Given the description of an element on the screen output the (x, y) to click on. 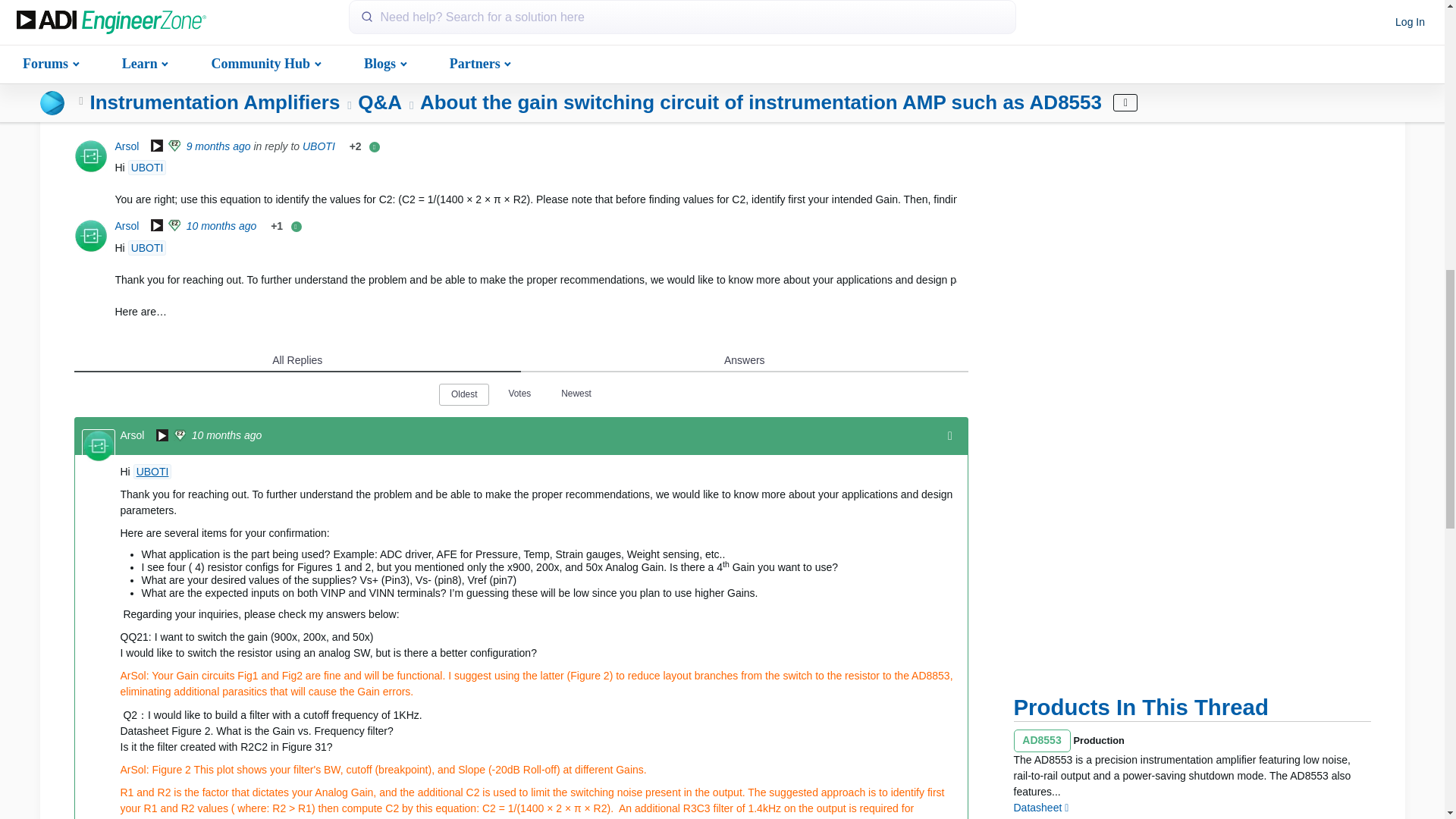
Super User (174, 226)
Analog Employees (156, 146)
Analog Employees (156, 226)
Super User (174, 146)
Super User (180, 436)
Analog Employees (161, 436)
